Given the description of an element on the screen output the (x, y) to click on. 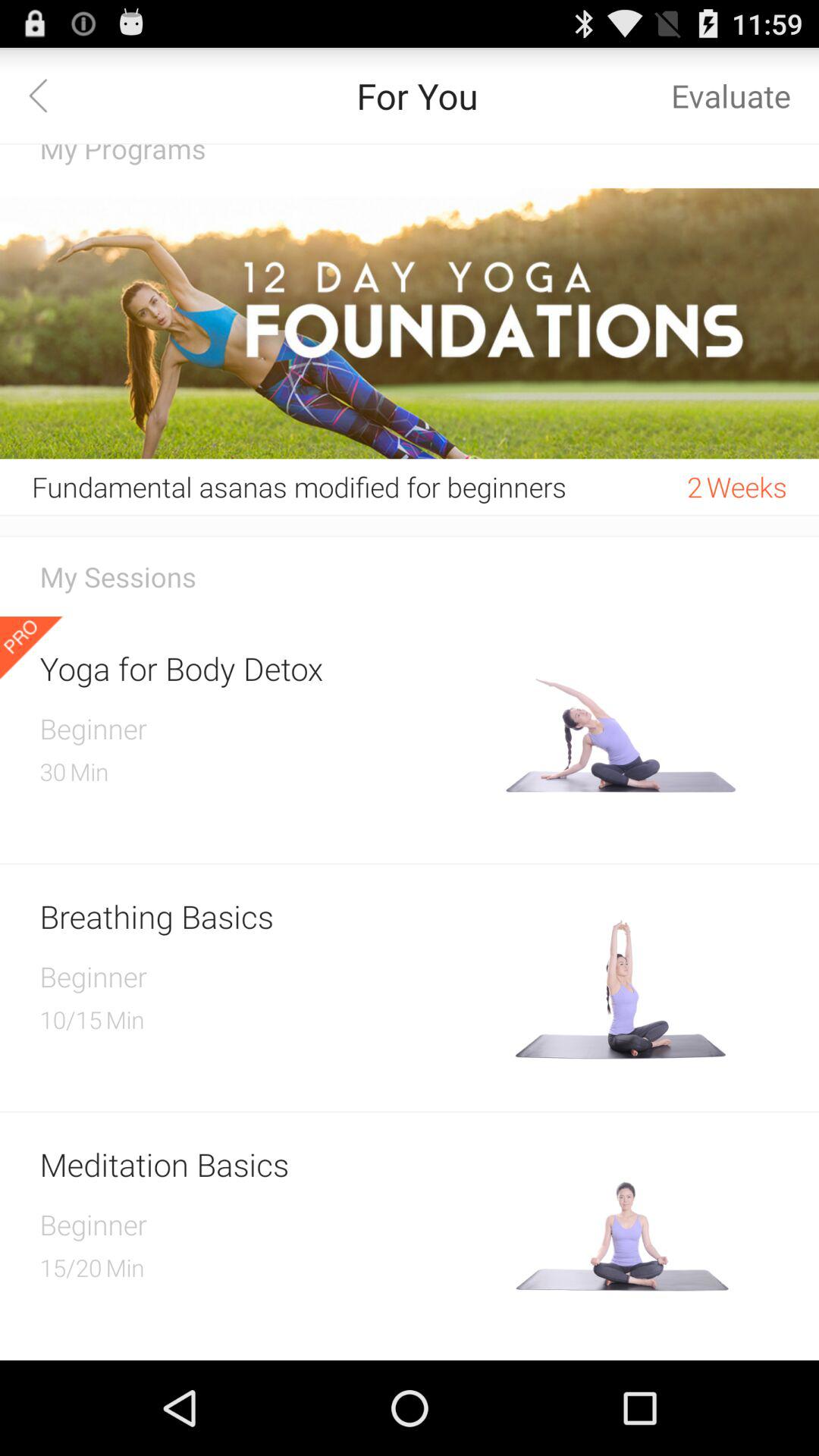
tap the icon above my sessions icon (409, 535)
